Given the description of an element on the screen output the (x, y) to click on. 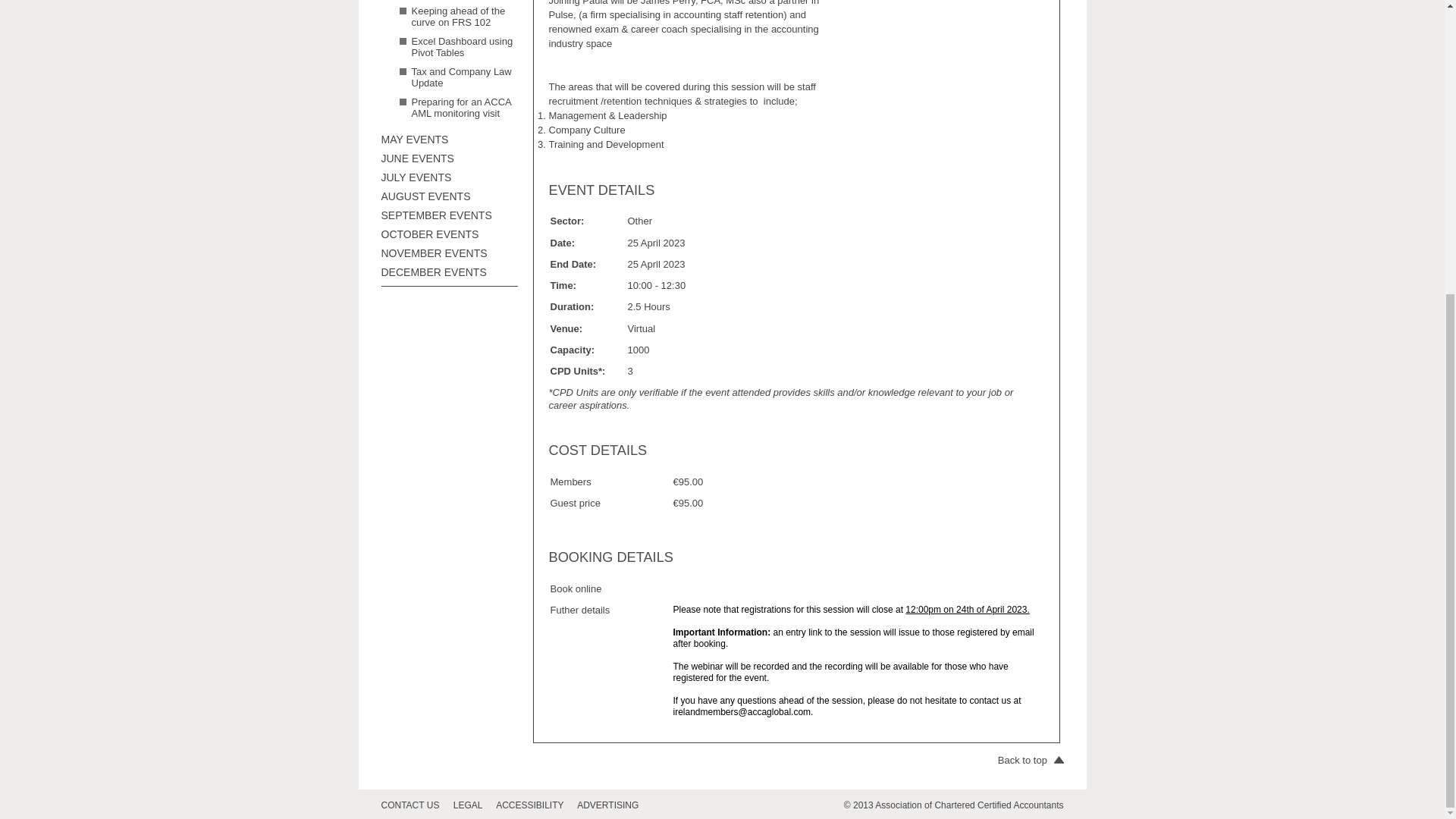
AUGUST EVENTS (425, 196)
LEGAL (473, 805)
JULY EVENTS (415, 177)
ACCESSIBILITY (535, 805)
Preparing for an ACCA AML monitoring visit (460, 107)
ADVERTISING (612, 805)
Back to top (1030, 759)
MAY EVENTS (414, 139)
DECEMBER EVENTS (433, 272)
CONTACT US (414, 805)
Excel Dashboard using Pivot Tables (461, 47)
NOVEMBER EVENTS (433, 253)
OCTOBER EVENTS (429, 234)
Keeping ahead of the curve on FRS 102 (457, 15)
Tax and Company Law Update (460, 77)
